Given the description of an element on the screen output the (x, y) to click on. 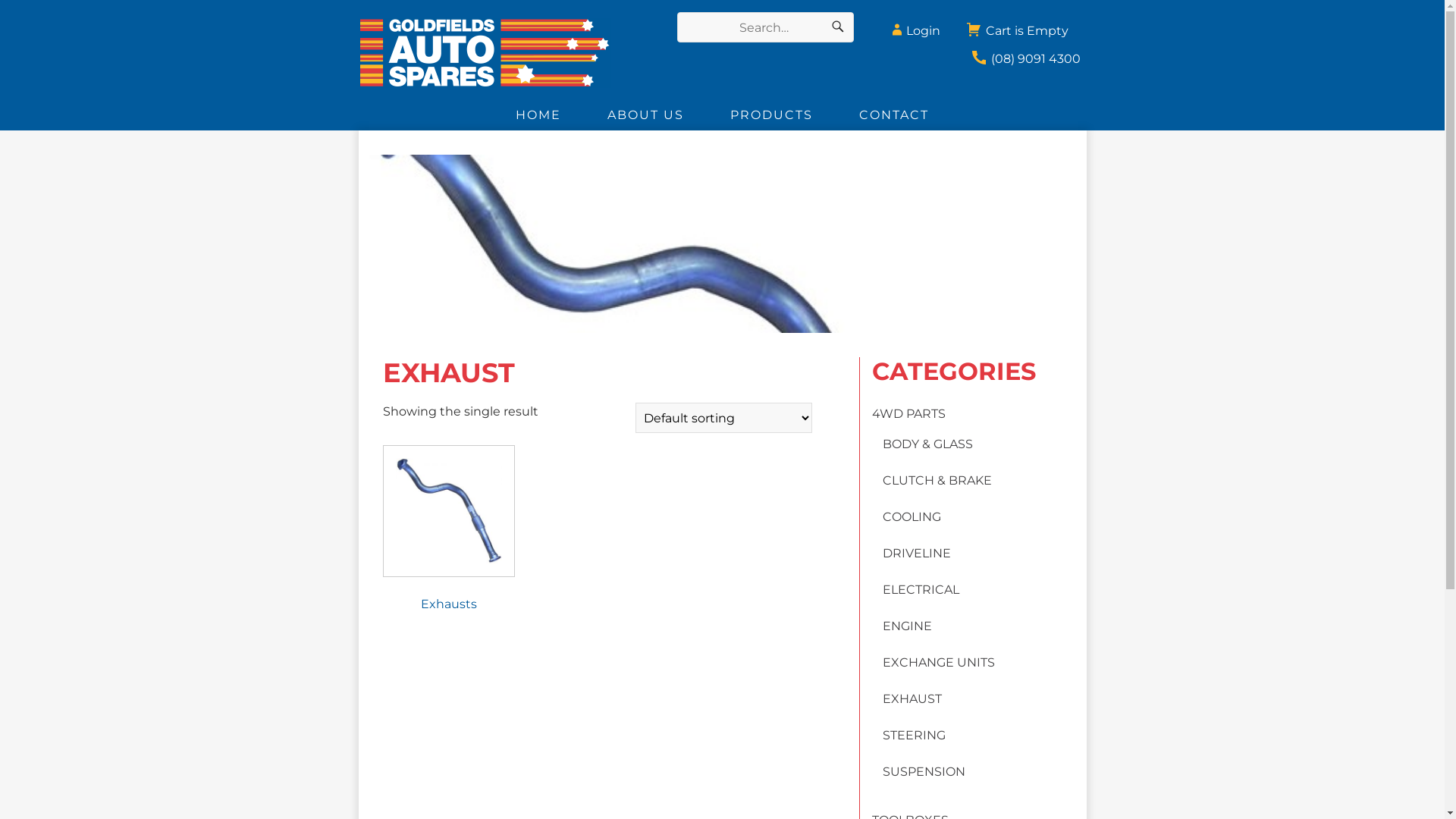
BODY & GLASS Element type: text (927, 443)
ABOUT US Element type: text (645, 115)
EXHAUST Element type: text (911, 698)
SUSPENSION Element type: text (923, 771)
CLUTCH & BRAKE Element type: text (936, 480)
DRIVELINE Element type: text (916, 553)
PRODUCTS Element type: text (770, 115)
ENGINE Element type: text (906, 625)
CONTACT Element type: text (893, 115)
Cart is Empty Element type: text (1016, 26)
HOME Element type: text (538, 115)
Exhausts Element type: text (448, 532)
STEERING Element type: text (913, 735)
EXCHANGE UNITS Element type: text (938, 662)
Return to homepage Element type: hover (502, 52)
4WD PARTS Element type: text (908, 413)
ELECTRICAL Element type: text (920, 589)
Login Element type: text (913, 26)
COOLING Element type: text (911, 516)
Search Element type: hover (837, 27)
